Given the description of an element on the screen output the (x, y) to click on. 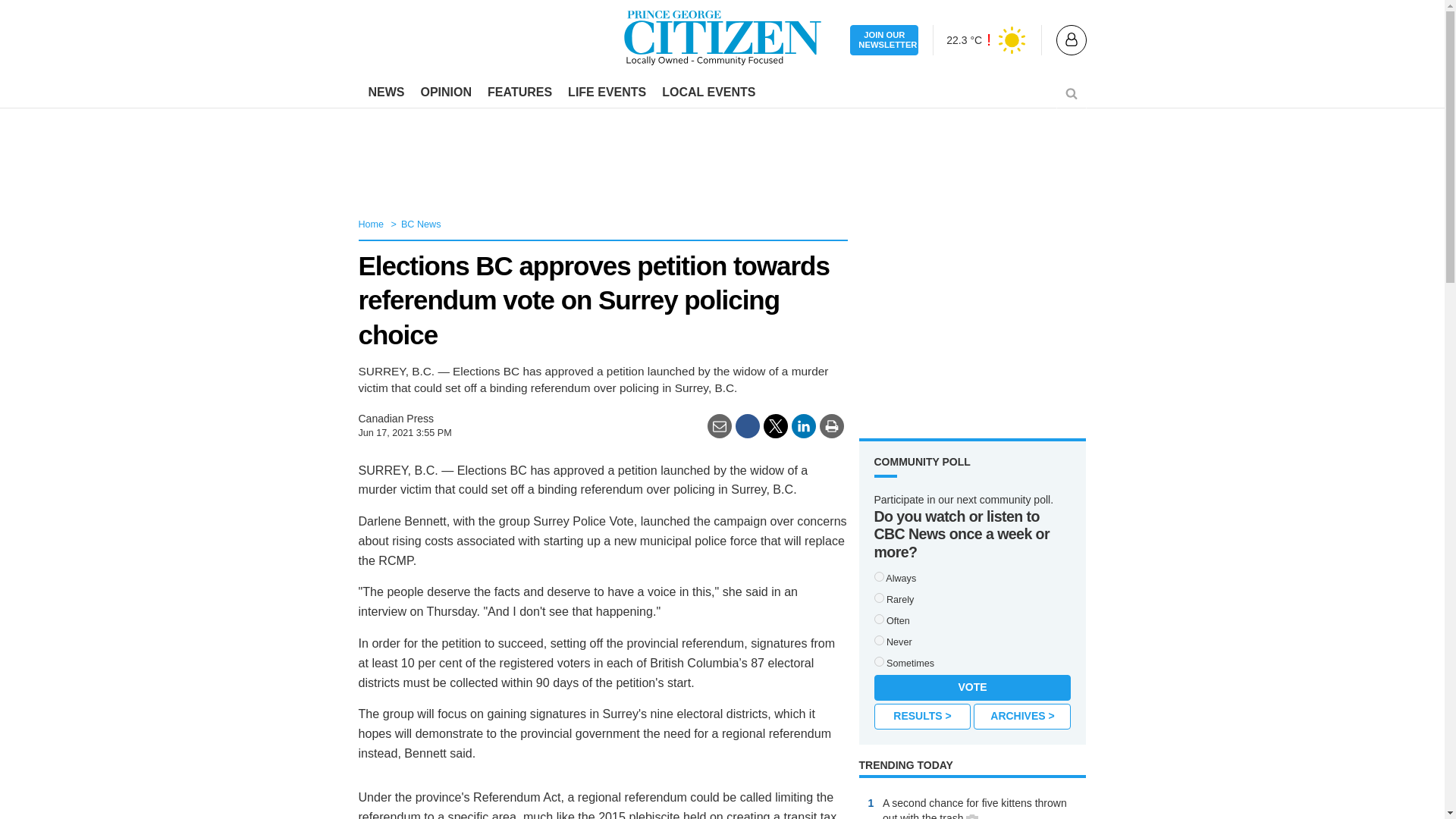
JOIN OUR NEWSLETTER (884, 40)
NEWS (386, 92)
118557 (878, 619)
Has a gallery (972, 816)
118556 (878, 576)
118558 (878, 661)
118560 (878, 640)
118559 (878, 597)
OPINION (445, 92)
